Given the description of an element on the screen output the (x, y) to click on. 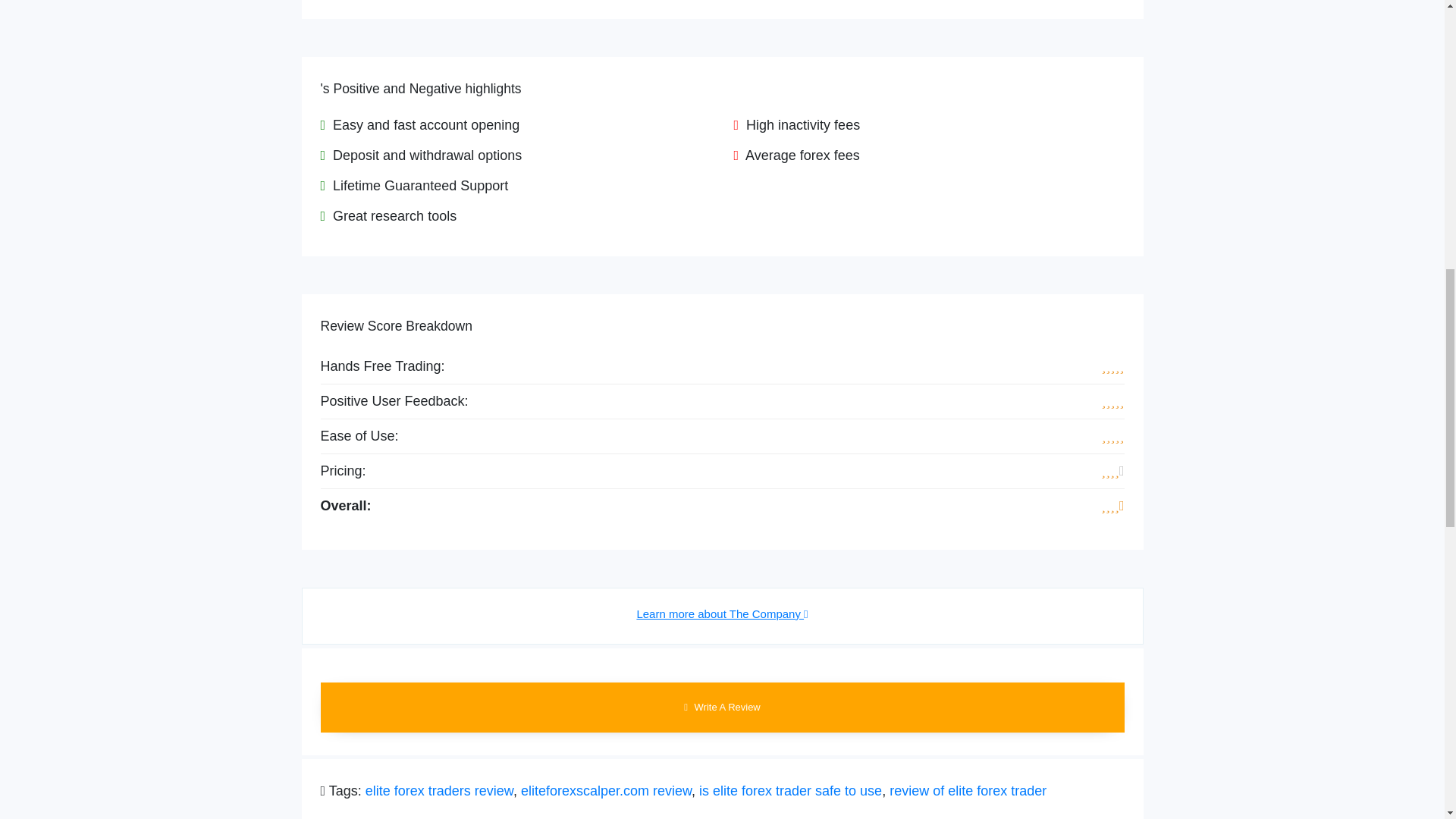
Write A Review (722, 707)
eliteforexscalper.com review (606, 790)
elite forex traders review (439, 790)
is elite forex trader safe to use (790, 790)
Learn more about The Company (721, 613)
review of elite forex trader (967, 790)
